Given the description of an element on the screen output the (x, y) to click on. 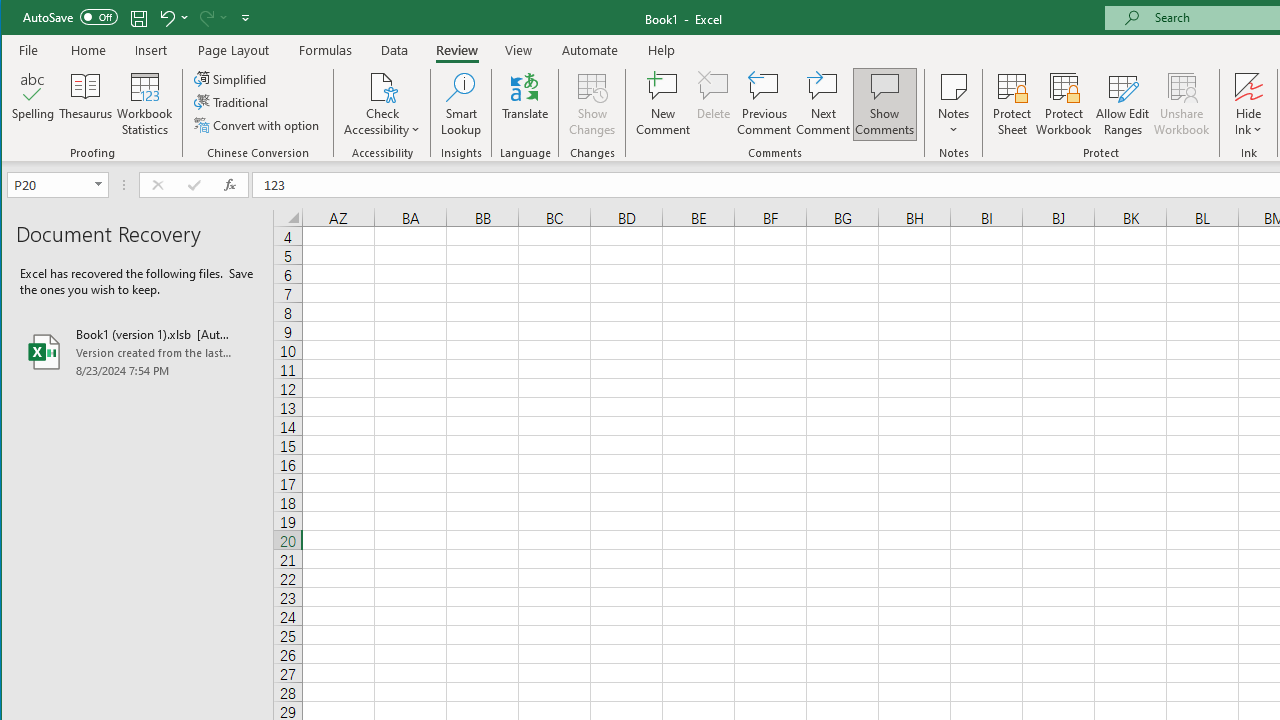
Check Accessibility (381, 86)
Next Comment (822, 104)
Translate (525, 104)
Delete (713, 104)
Thesaurus... (86, 104)
Show Changes (592, 104)
Smart Lookup (461, 104)
Notes (954, 104)
